Given the description of an element on the screen output the (x, y) to click on. 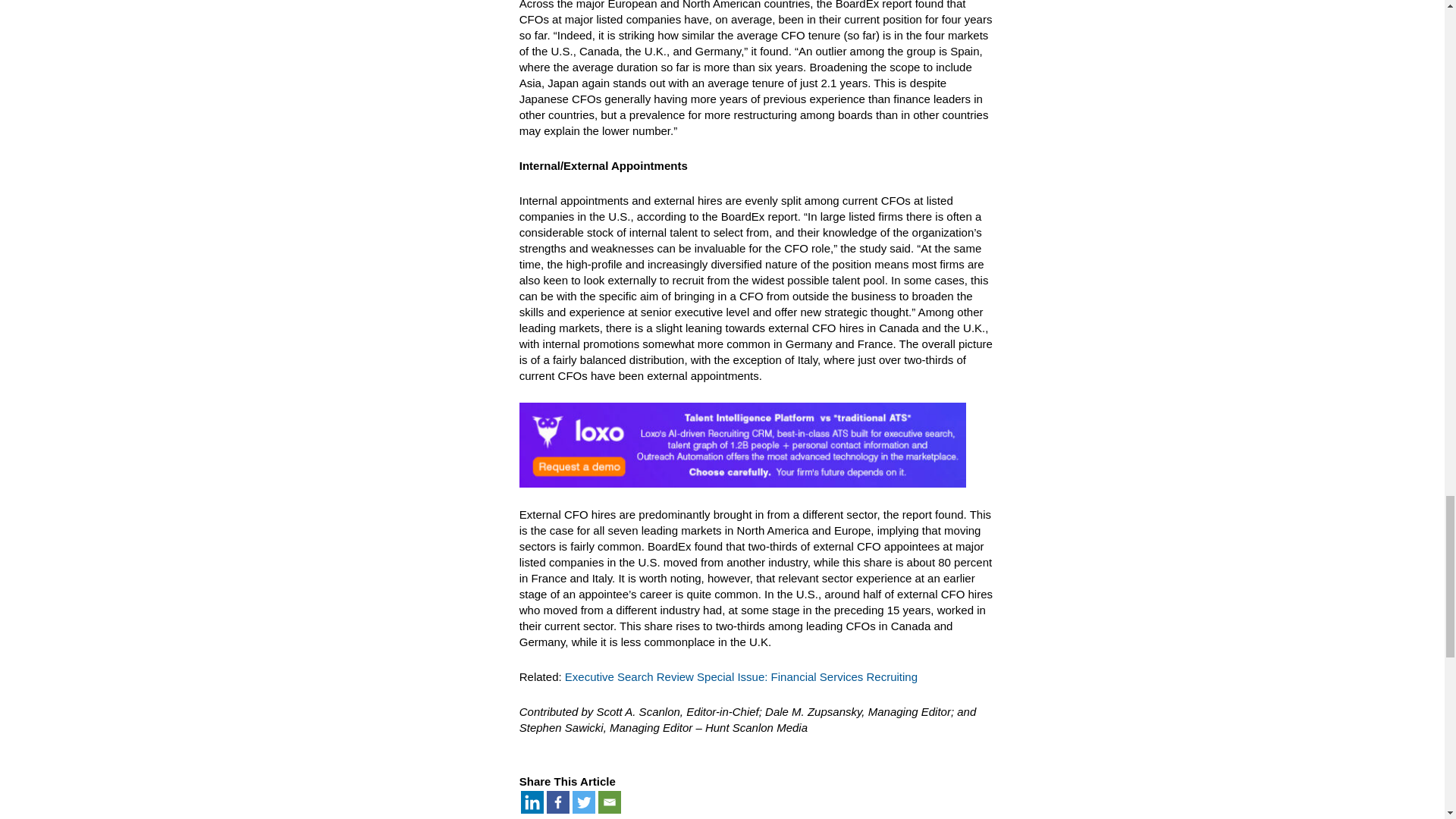
Twitter (583, 802)
Linkedin (532, 802)
Email (609, 802)
Facebook (558, 802)
